Given the description of an element on the screen output the (x, y) to click on. 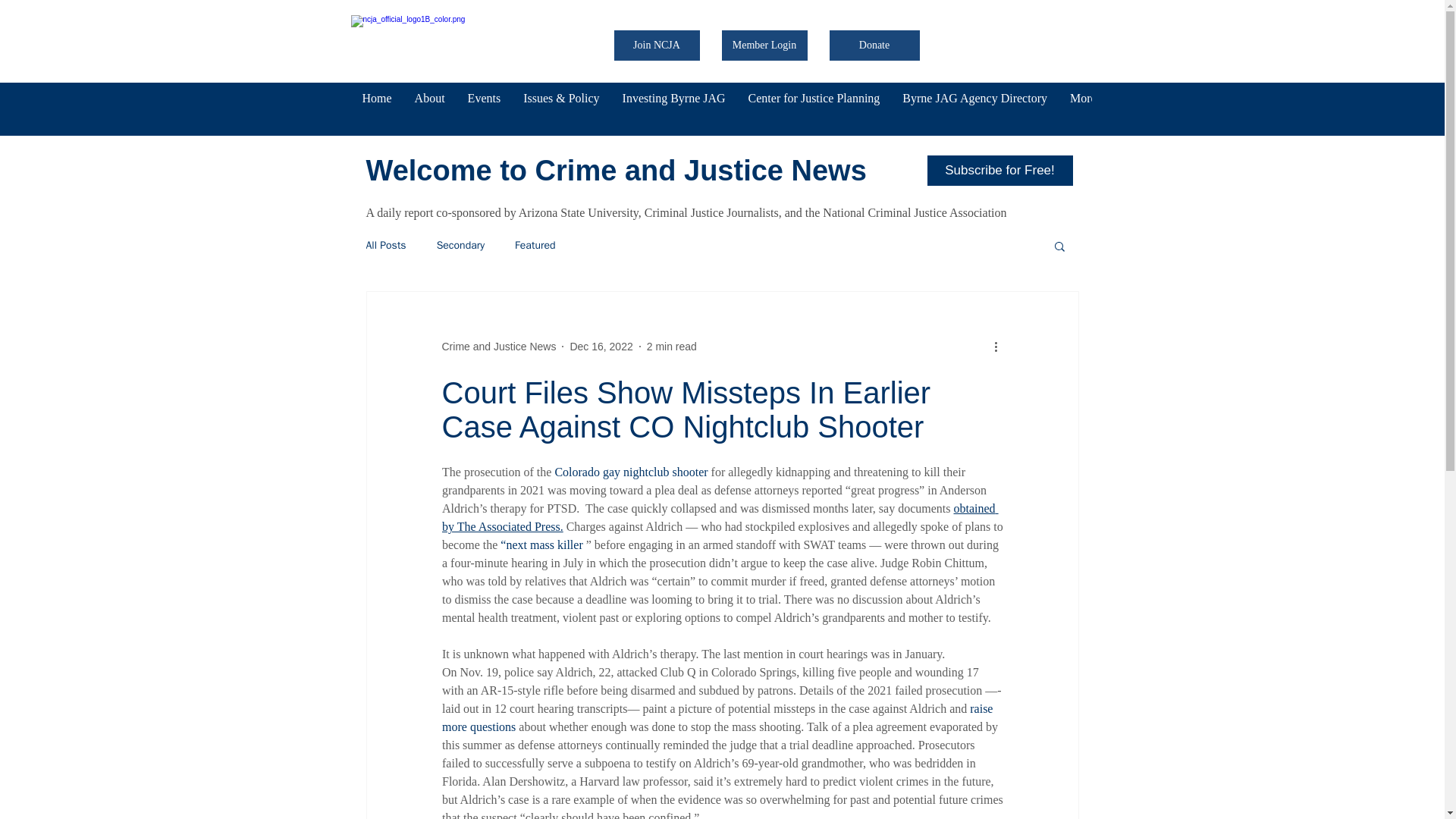
Join NCJA (657, 45)
Donate (874, 45)
2 min read (671, 346)
Member Login (765, 45)
Dec 16, 2022 (600, 346)
Events (484, 108)
Home (376, 108)
Center for Justice Planning (813, 108)
Crime and Justice News (498, 346)
Investing Byrne JAG (673, 108)
About (430, 108)
